Given the description of an element on the screen output the (x, y) to click on. 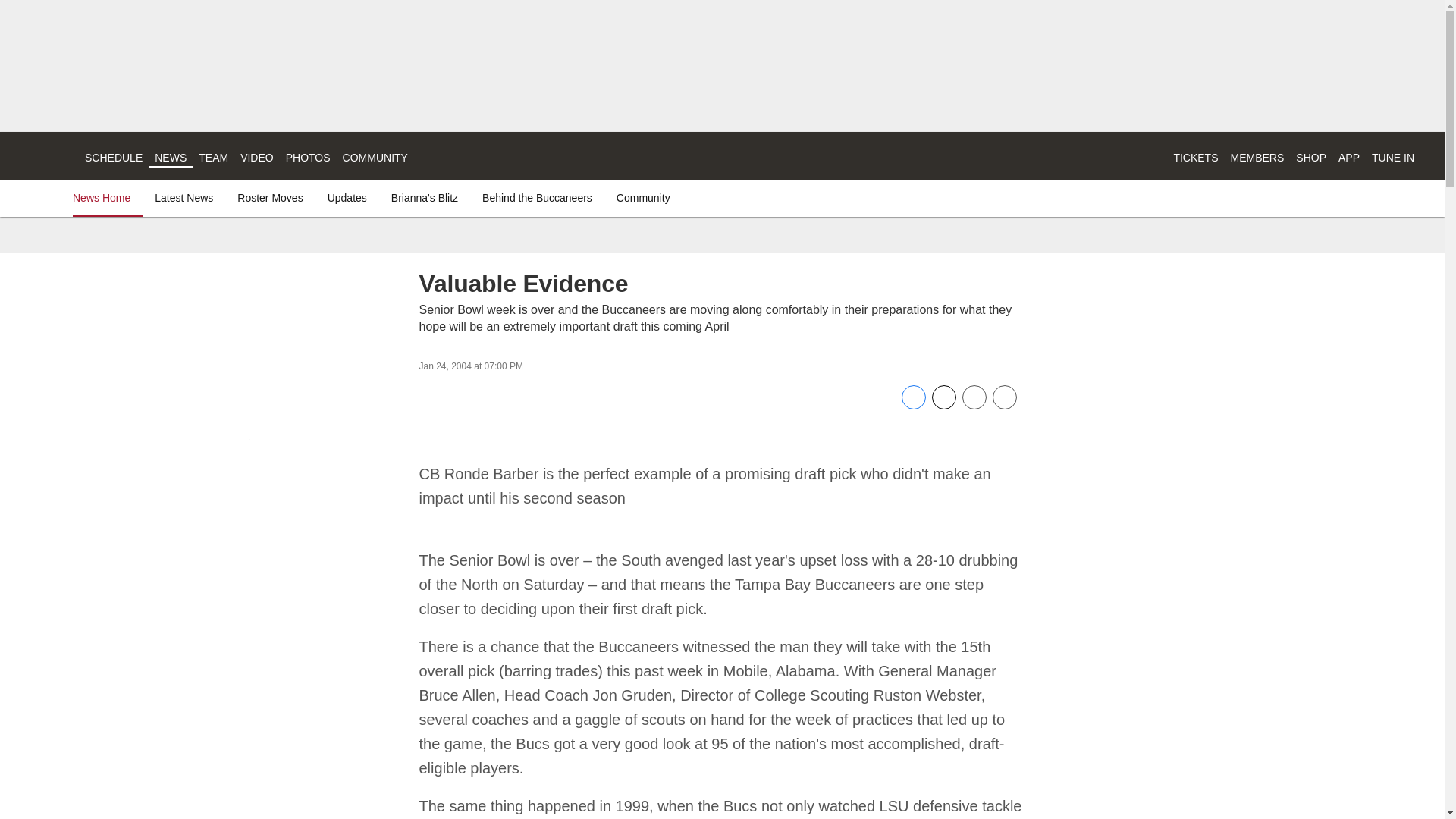
TICKETS (1195, 157)
SCHEDULE (113, 157)
MEMBERS (1257, 157)
Community (643, 197)
COMMUNITY (374, 157)
TUNE IN (1392, 157)
TEAM (213, 157)
PHOTOS (307, 157)
VIDEO (256, 157)
Updates (346, 197)
